Given the description of an element on the screen output the (x, y) to click on. 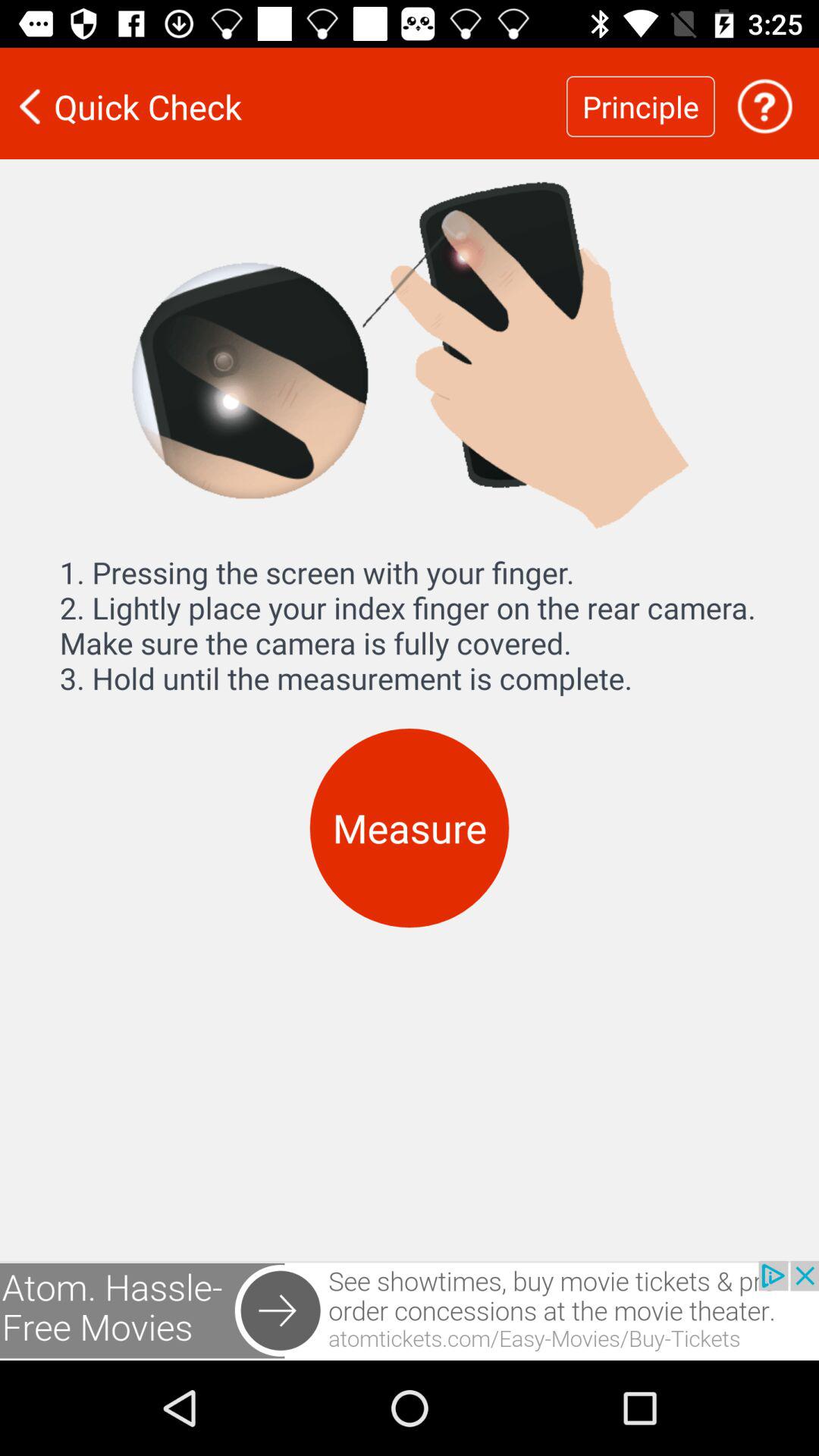
get help (764, 106)
